Given the description of an element on the screen output the (x, y) to click on. 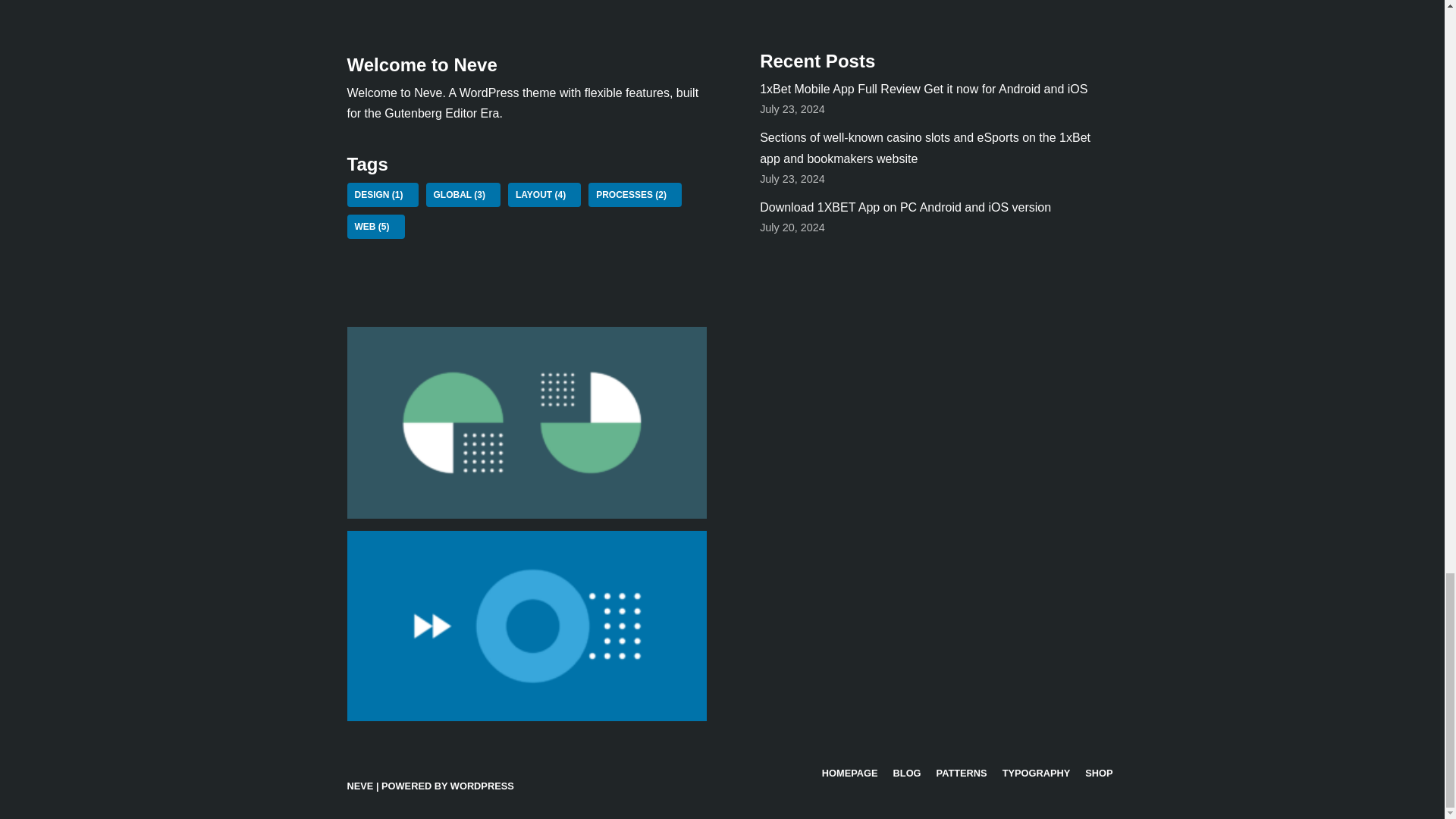
WORDPRESS (481, 785)
1xBet Mobile App Full Review Get it now for Android and iOS (923, 88)
NEVE (360, 785)
Download 1XBET App on PC Android and iOS version (905, 206)
